Given the description of an element on the screen output the (x, y) to click on. 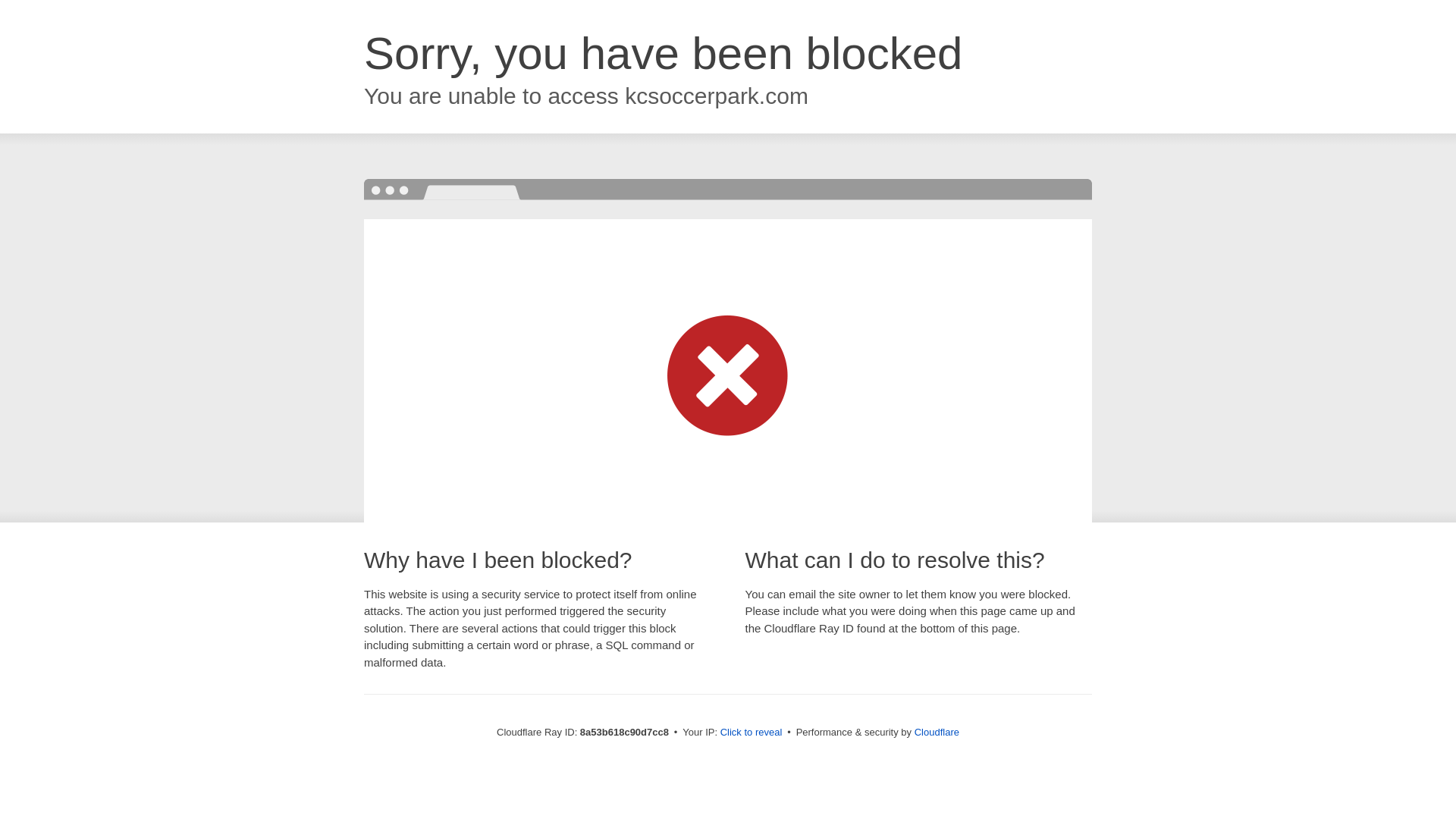
Click to reveal (751, 732)
Cloudflare (936, 731)
